Given the description of an element on the screen output the (x, y) to click on. 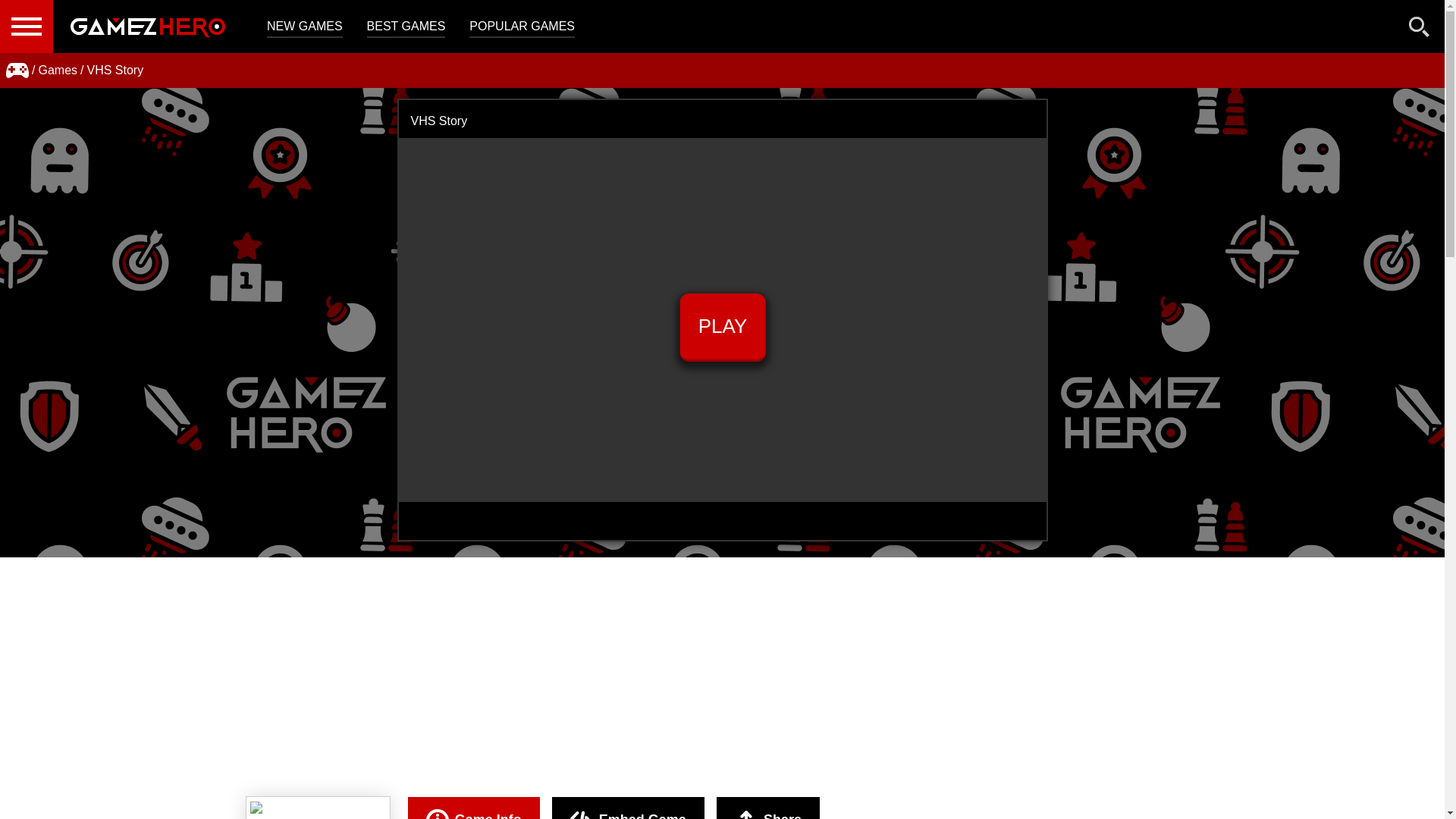
Gamezhero.com - Free Online Games. Play Free Games Online. (147, 26)
New Games (304, 27)
Search Game (1419, 30)
POPULAR GAMES (521, 27)
Gamezhero.com - Free Online Games. Play Free Games Online. (147, 26)
BEST GAMES (405, 27)
Popular Games (521, 27)
Best Games (405, 27)
NEW GAMES (304, 27)
